Given the description of an element on the screen output the (x, y) to click on. 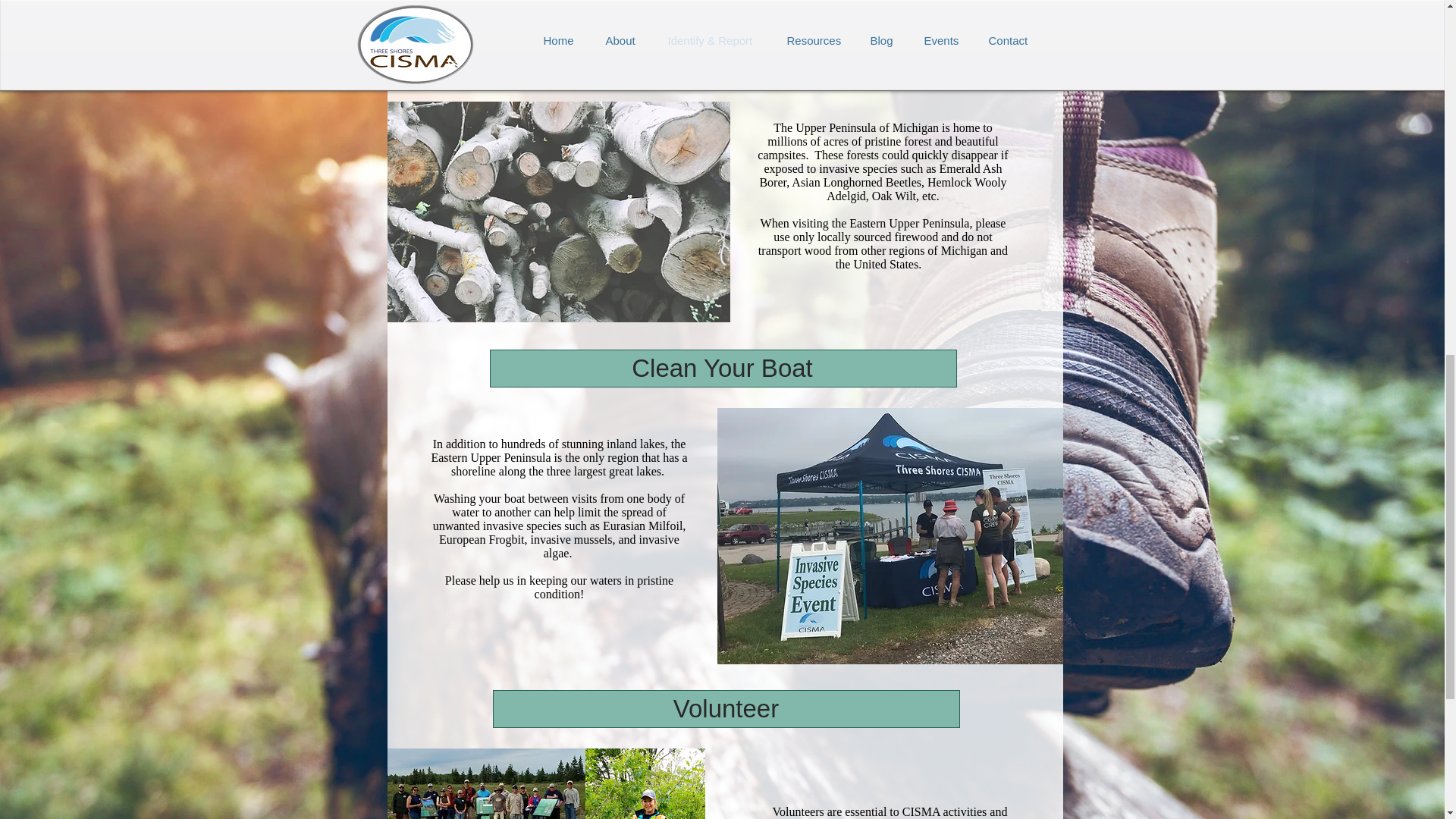
file4-1.png (644, 783)
dsaf.jpg (486, 783)
